Given the description of an element on the screen output the (x, y) to click on. 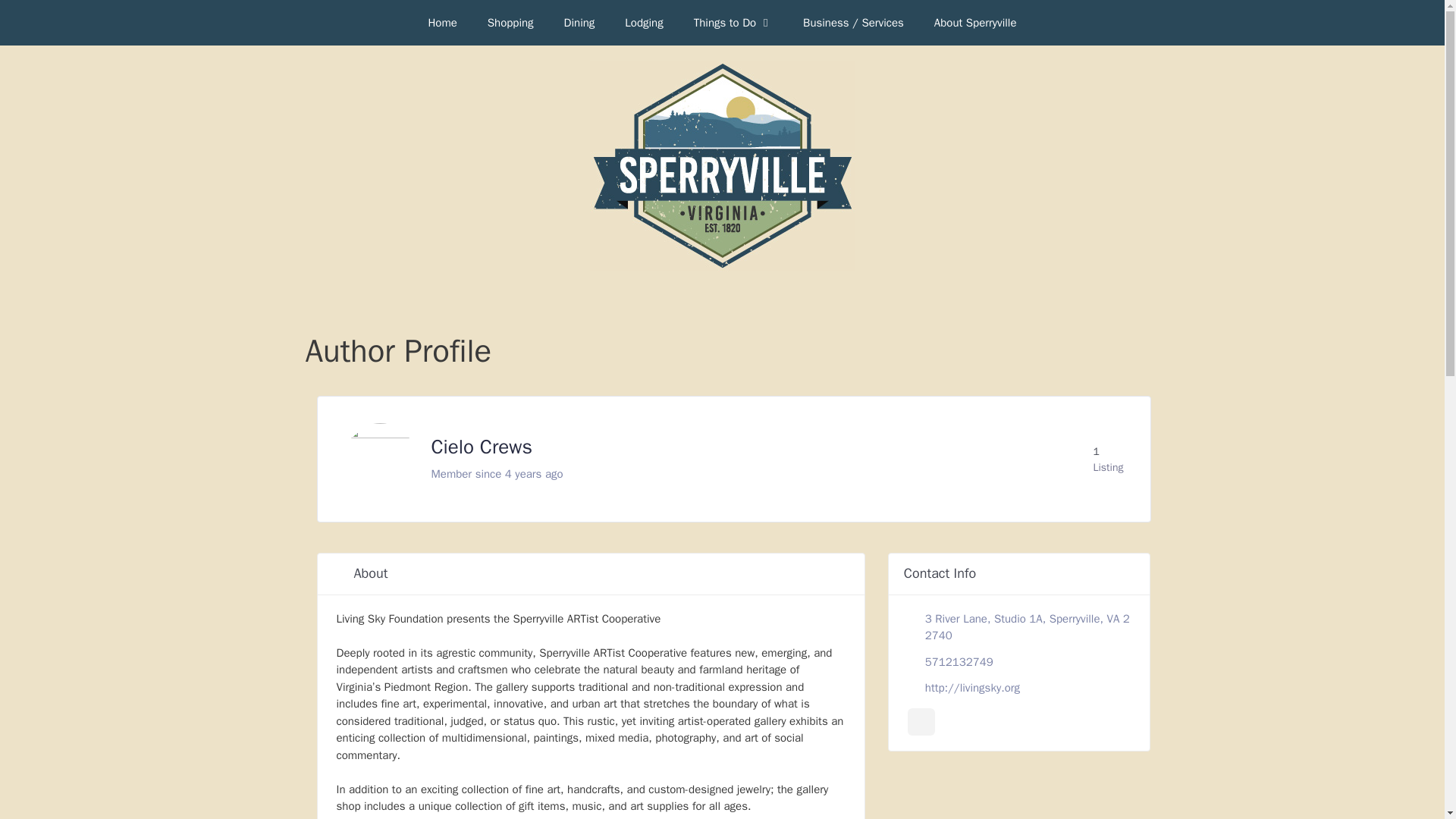
Things to Do (732, 22)
Lodging (644, 22)
Dining (579, 22)
About Sperryville (975, 22)
Shopping (509, 22)
5712132749 (958, 662)
Home (441, 22)
